Given the description of an element on the screen output the (x, y) to click on. 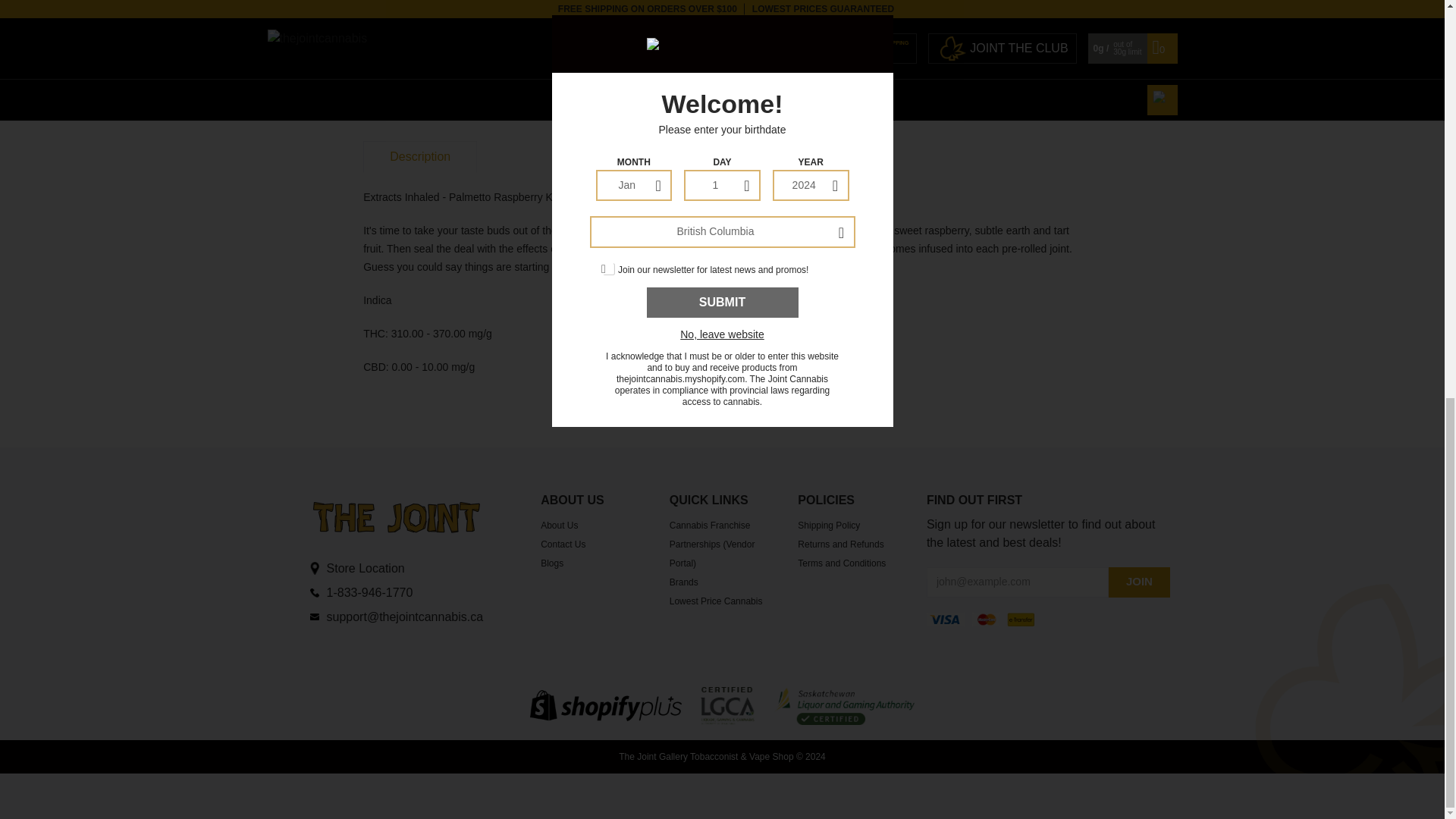
Join (1138, 582)
